Given the description of an element on the screen output the (x, y) to click on. 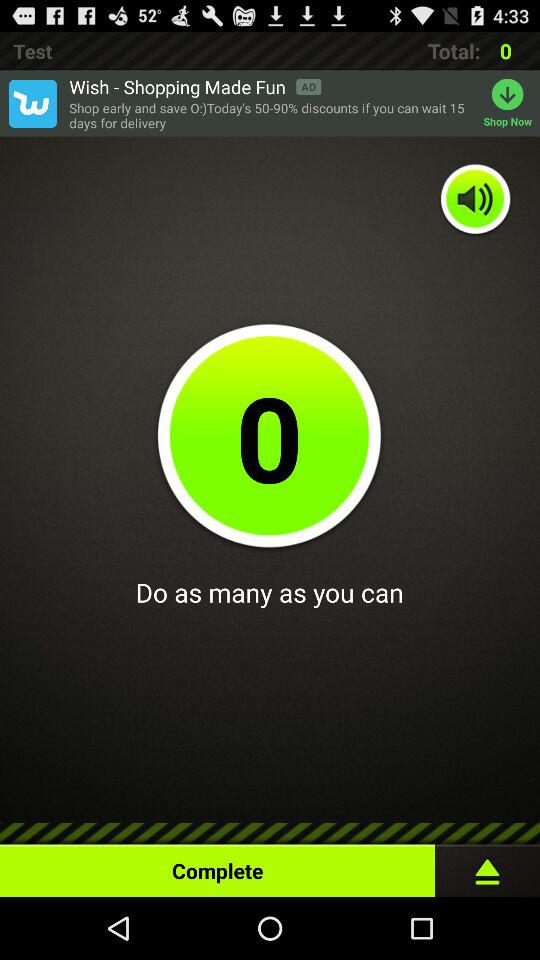
start task (487, 866)
